Given the description of an element on the screen output the (x, y) to click on. 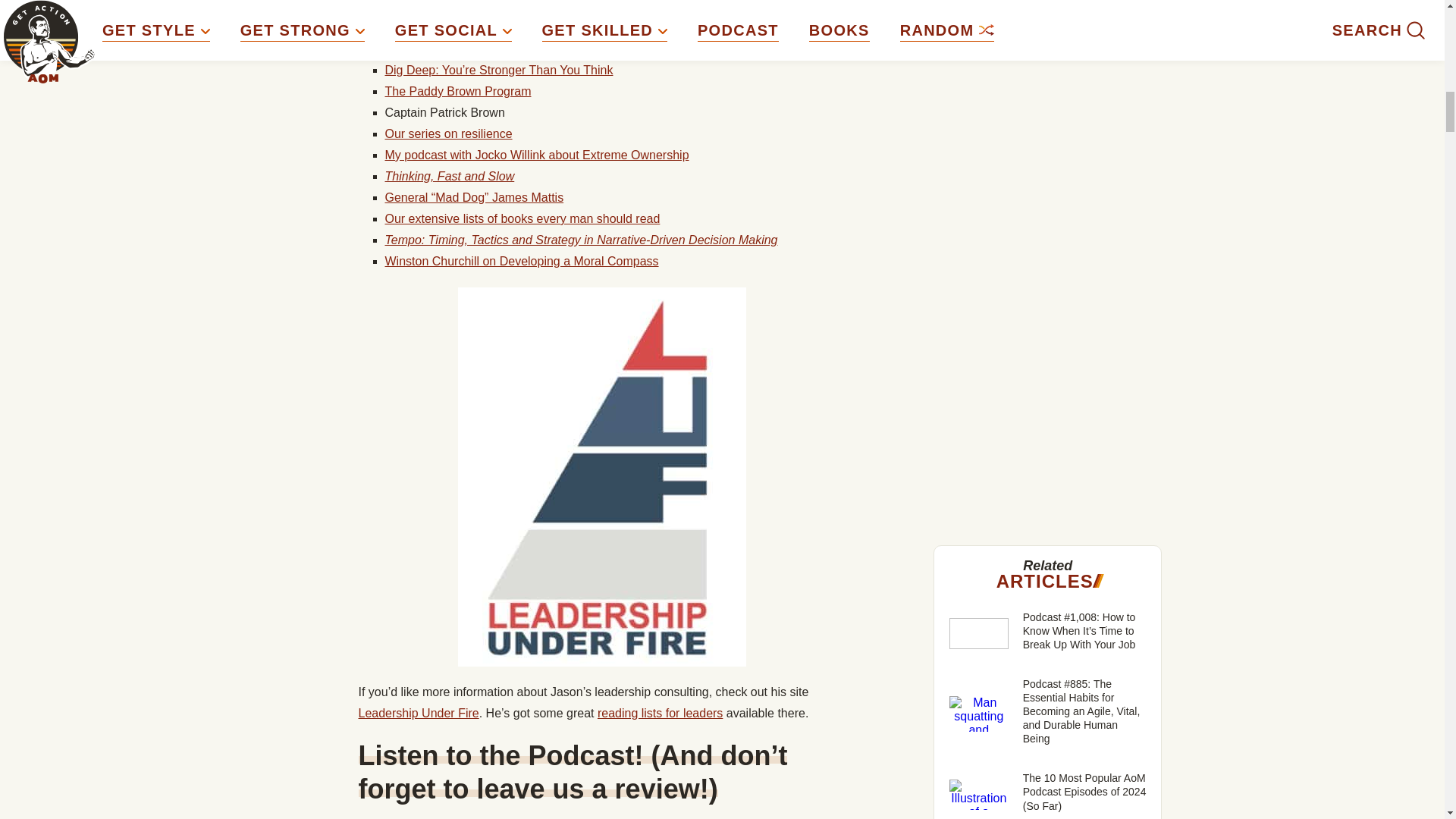
3rd party ad content (1047, 154)
